Given the description of an element on the screen output the (x, y) to click on. 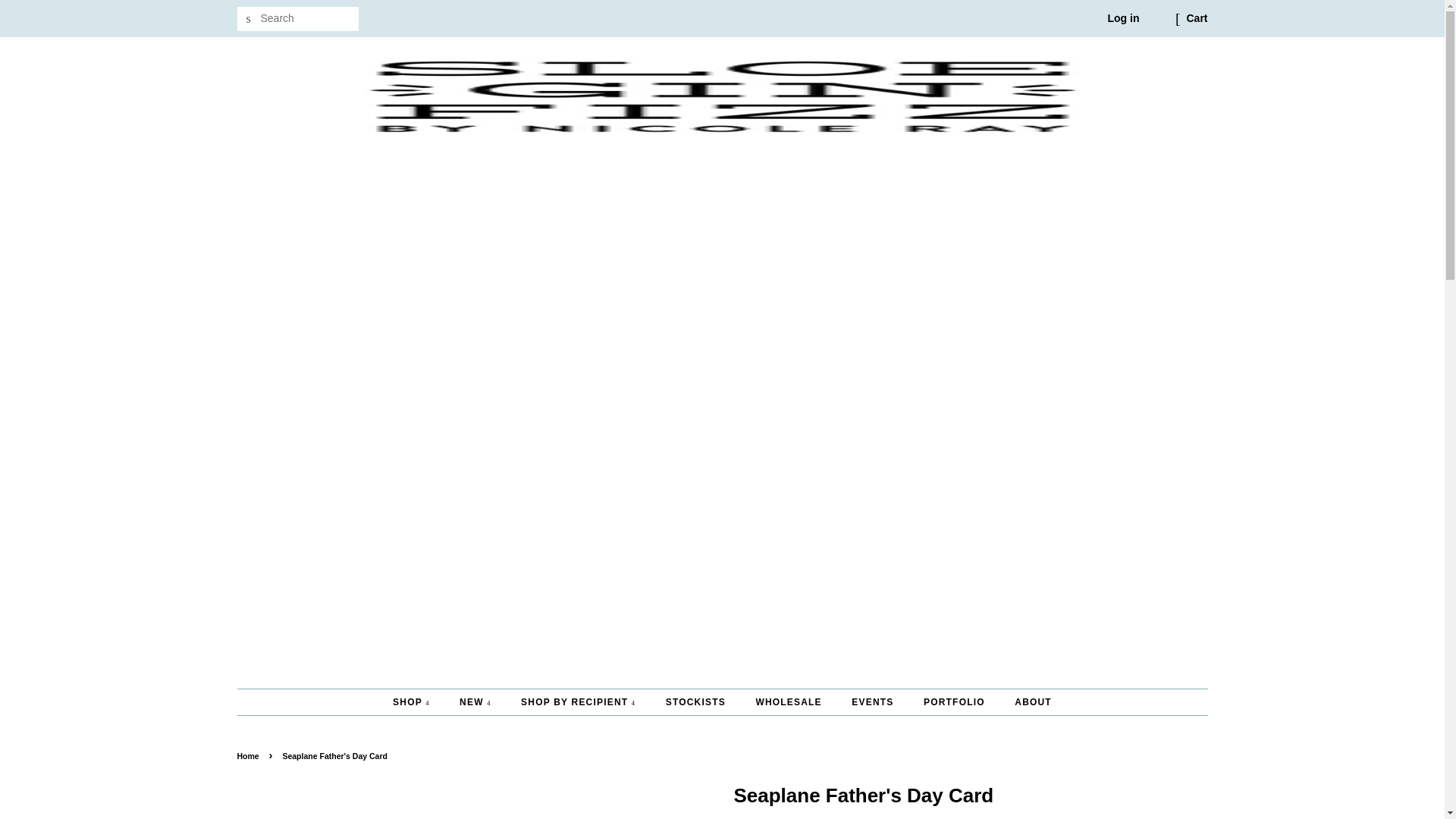
Log in (1122, 18)
Cart (1196, 18)
Back to the frontpage (248, 755)
SEARCH (247, 18)
